Given the description of an element on the screen output the (x, y) to click on. 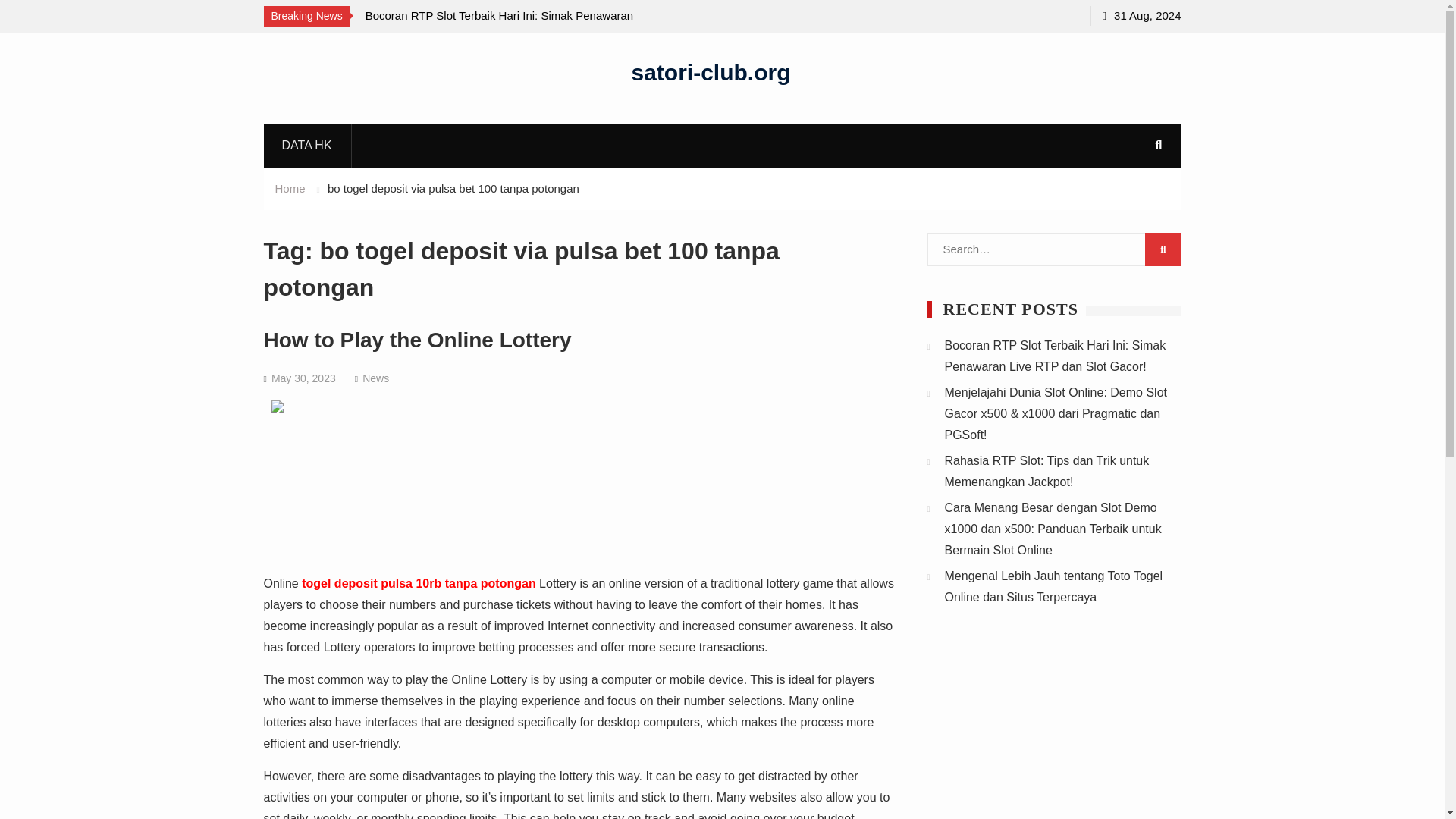
DATA HK (307, 144)
togel deposit pulsa 10rb tanpa potongan (418, 583)
Rahasia RTP Slot: Tips dan Trik untuk Memenangkan Jackpot! (1047, 471)
satori-club.org (710, 71)
Home (289, 187)
How to Play the Online Lottery (417, 340)
News (375, 378)
May 30, 2023 (303, 378)
